Given the description of an element on the screen output the (x, y) to click on. 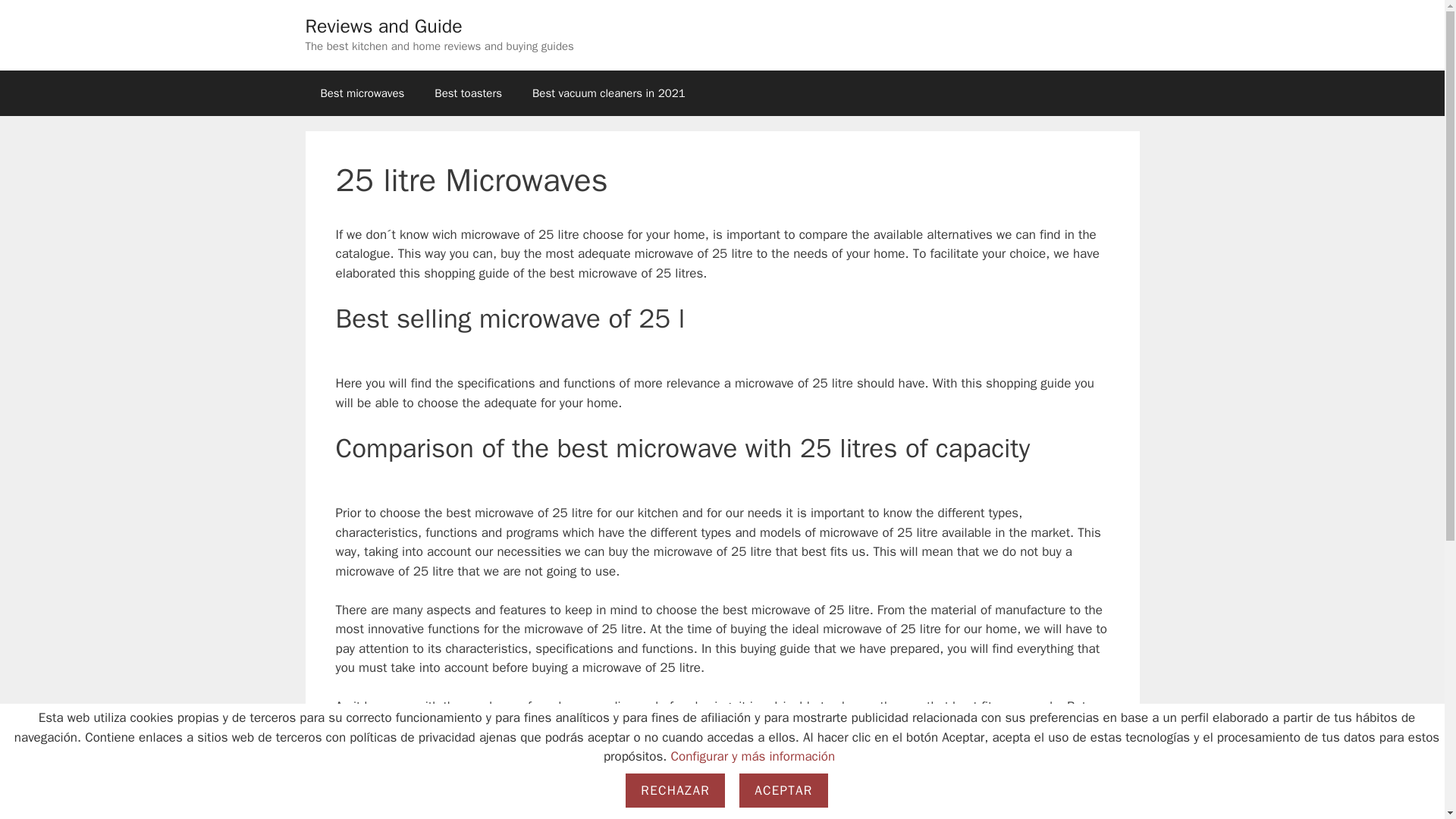
Best vacuum cleaners in 2021 (608, 92)
ACEPTAR (783, 790)
RECHAZAR (674, 790)
Best toasters (467, 92)
Best microwaves (361, 92)
Reviews and Guide (382, 25)
